Given the description of an element on the screen output the (x, y) to click on. 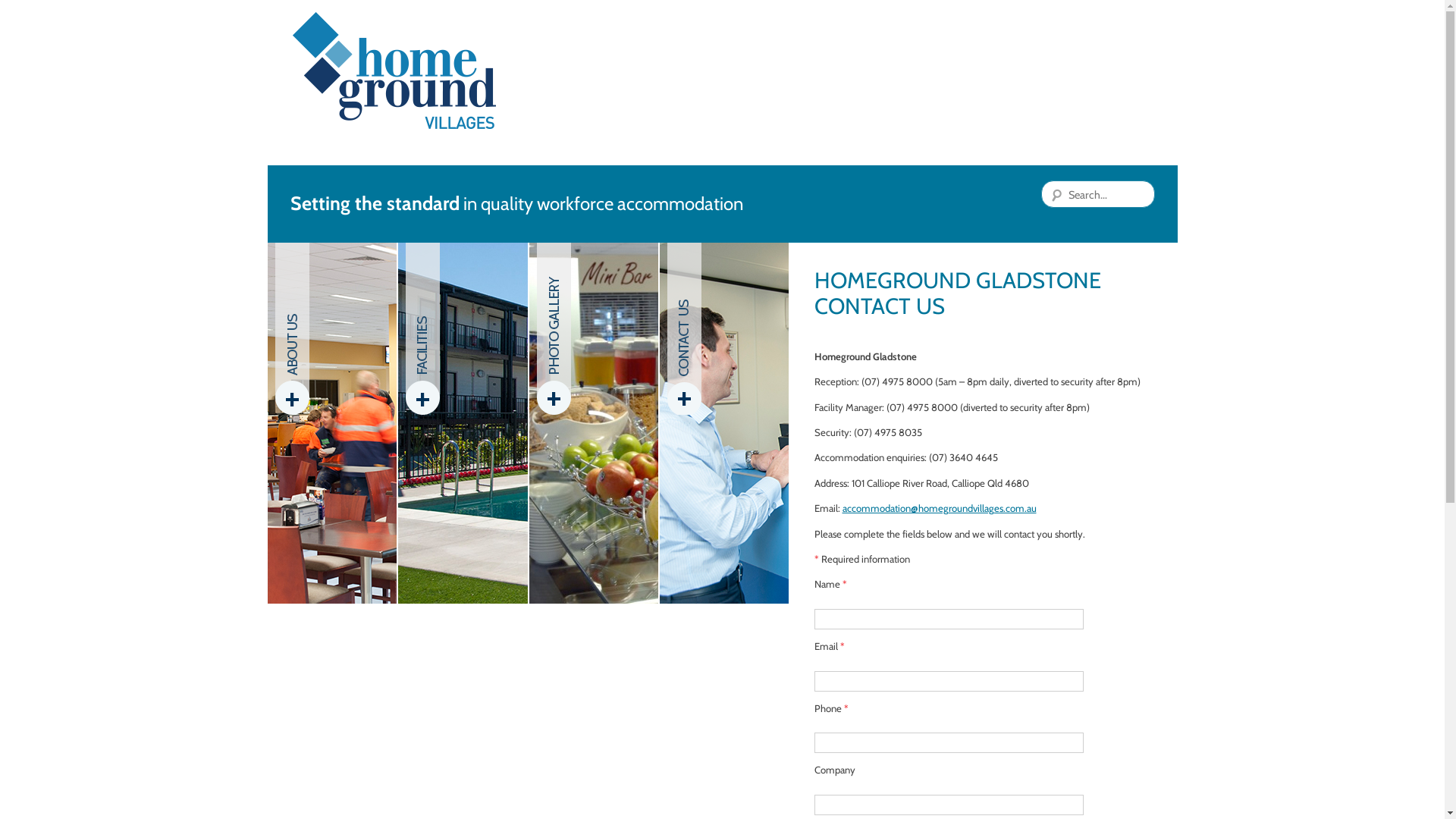
Homeground Villages Element type: text (393, 70)
Search Element type: text (30, 11)
accommodation@homegroundvillages.com.au Element type: text (938, 508)
